Given the description of an element on the screen output the (x, y) to click on. 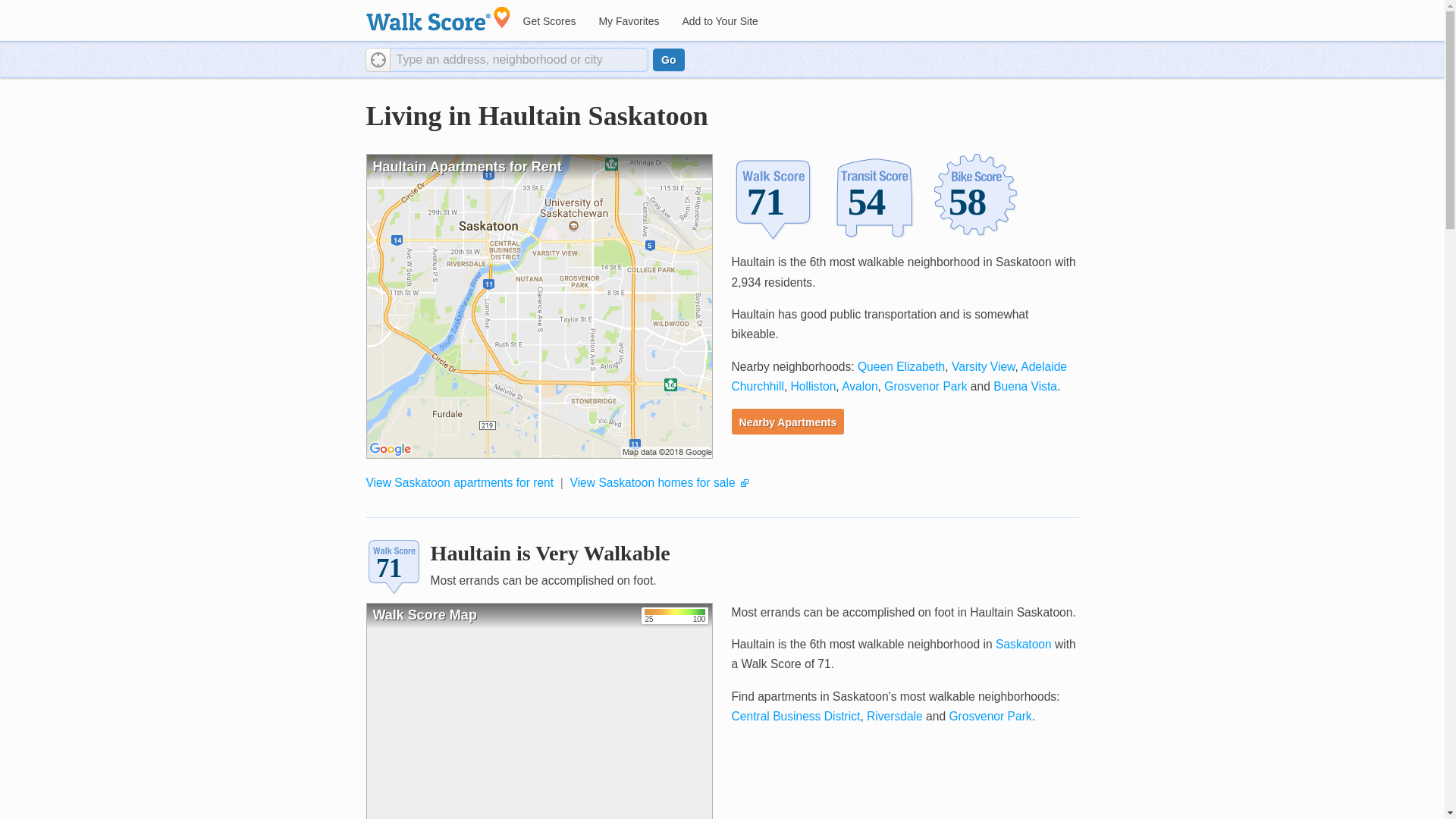
My Favorites (628, 21)
View Saskatoon apartments for rent (459, 481)
Grosvenor Park (989, 716)
Add to Your Site (719, 21)
Haultain Apartments for Rent (539, 305)
Queen Elizabeth (900, 366)
Riversdale (894, 716)
Buena Vista (1024, 386)
Go (668, 59)
Avalon (859, 386)
